Given the description of an element on the screen output the (x, y) to click on. 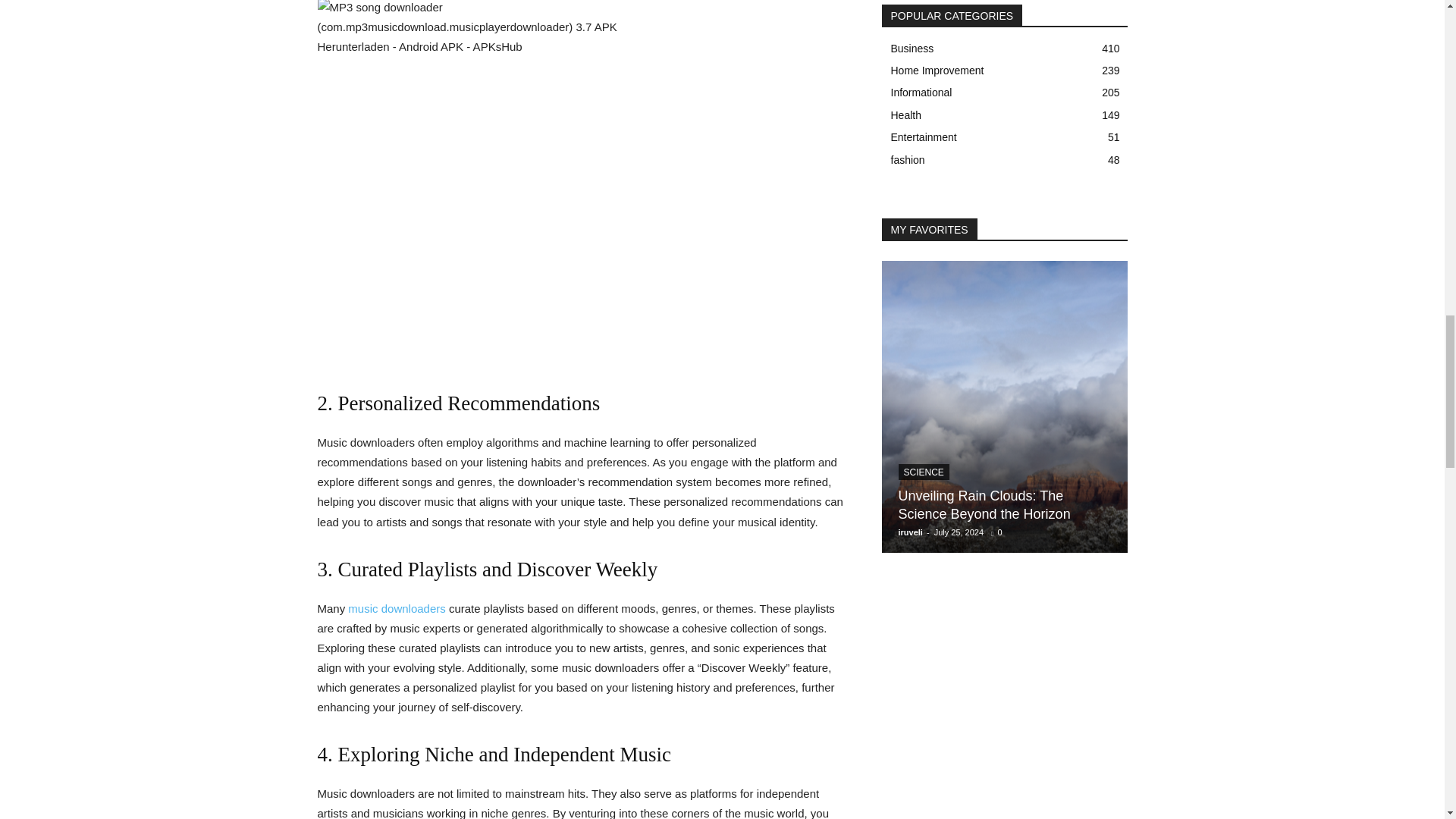
music downloaders (396, 608)
